Given the description of an element on the screen output the (x, y) to click on. 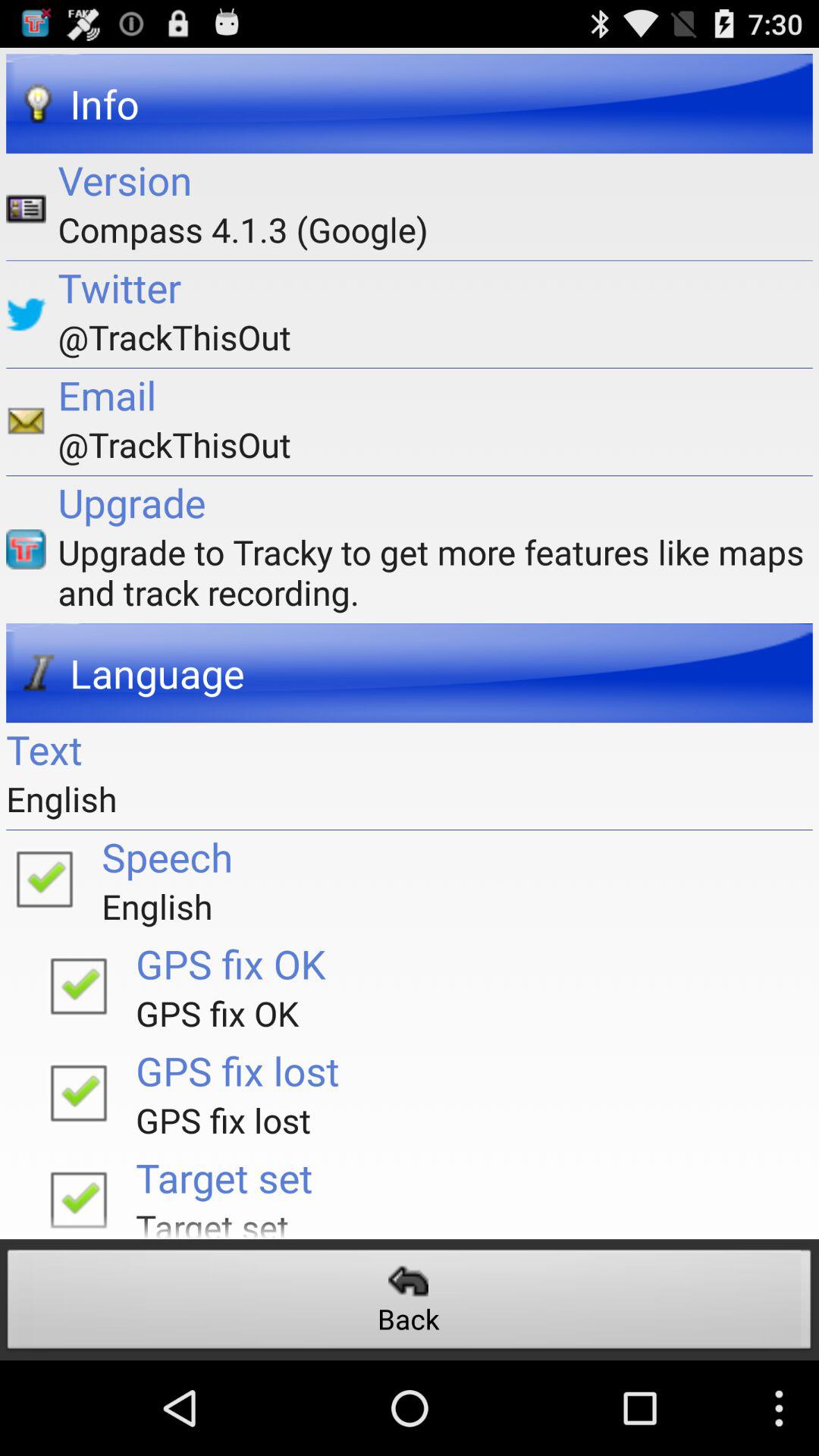
click option (78, 1091)
